Given the description of an element on the screen output the (x, y) to click on. 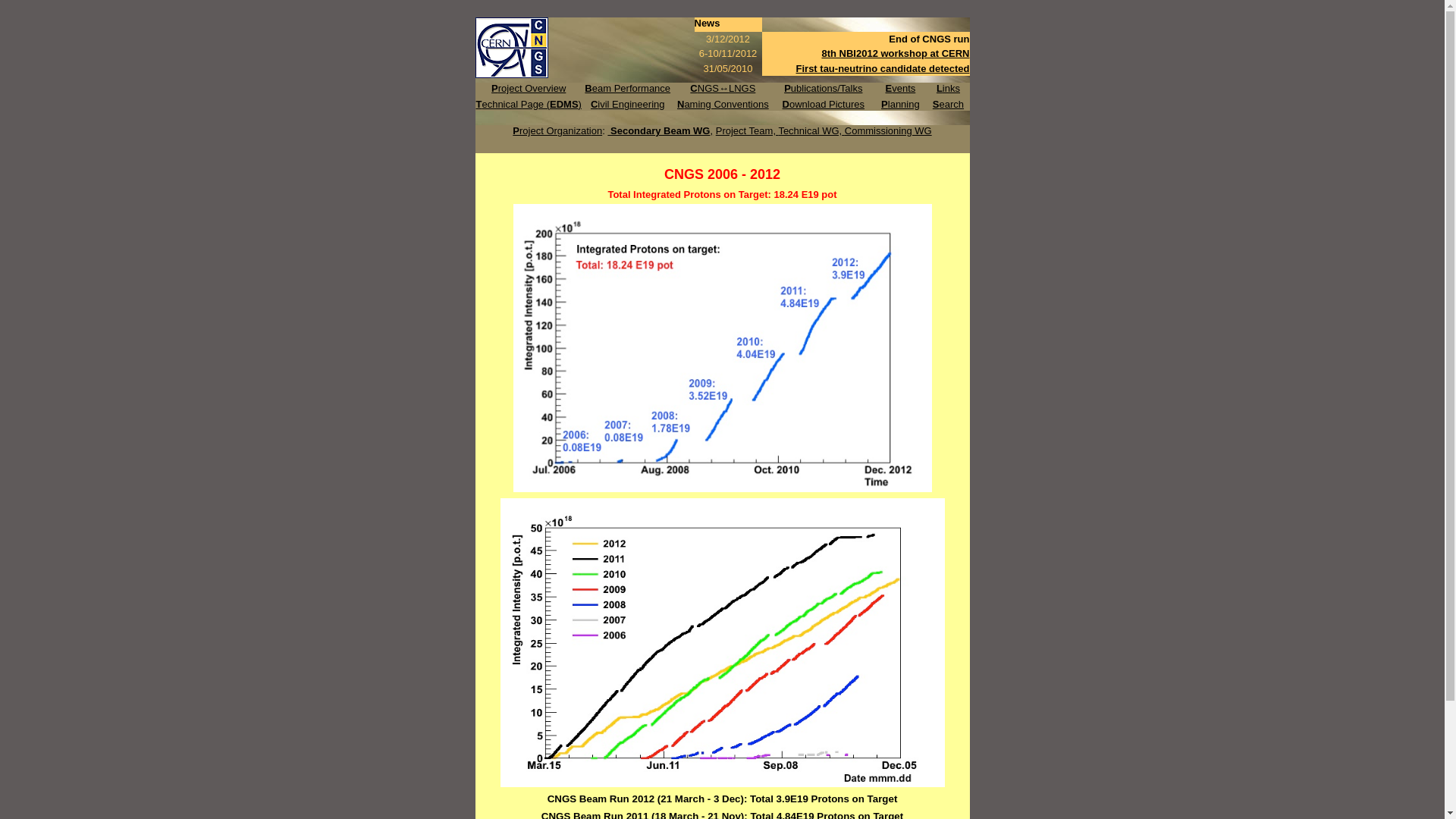
Civil Engineering Element type: text (627, 103)
Technical Page (EDMS) Element type: text (527, 103)
on Element type: text (596, 130)
Beam Performance Element type: text (627, 88)
  Element type: text (608, 130)
Technical WG, Element type: text (809, 130)
Secondary Beam WG, Element type: text (661, 130)
Events Element type: text (900, 88)
Naming Conventions Element type: text (722, 103)
First tau-neutrino candidate detected Element type: text (882, 68)
Project Overview Element type: text (528, 88)
Planning Element type: text (900, 103)
Commissioning WG Element type: text (887, 130)
Download Pictures Element type: text (823, 103)
Project Team, Element type: text (746, 130)
LNGS Element type: text (741, 87)
8th NBI2012 workshop at CERN Element type: text (895, 53)
Project Organizati Element type: text (551, 130)
Search Element type: text (947, 103)
Links Element type: text (948, 88)
Publications/Talks Element type: text (823, 88)
